Given the description of an element on the screen output the (x, y) to click on. 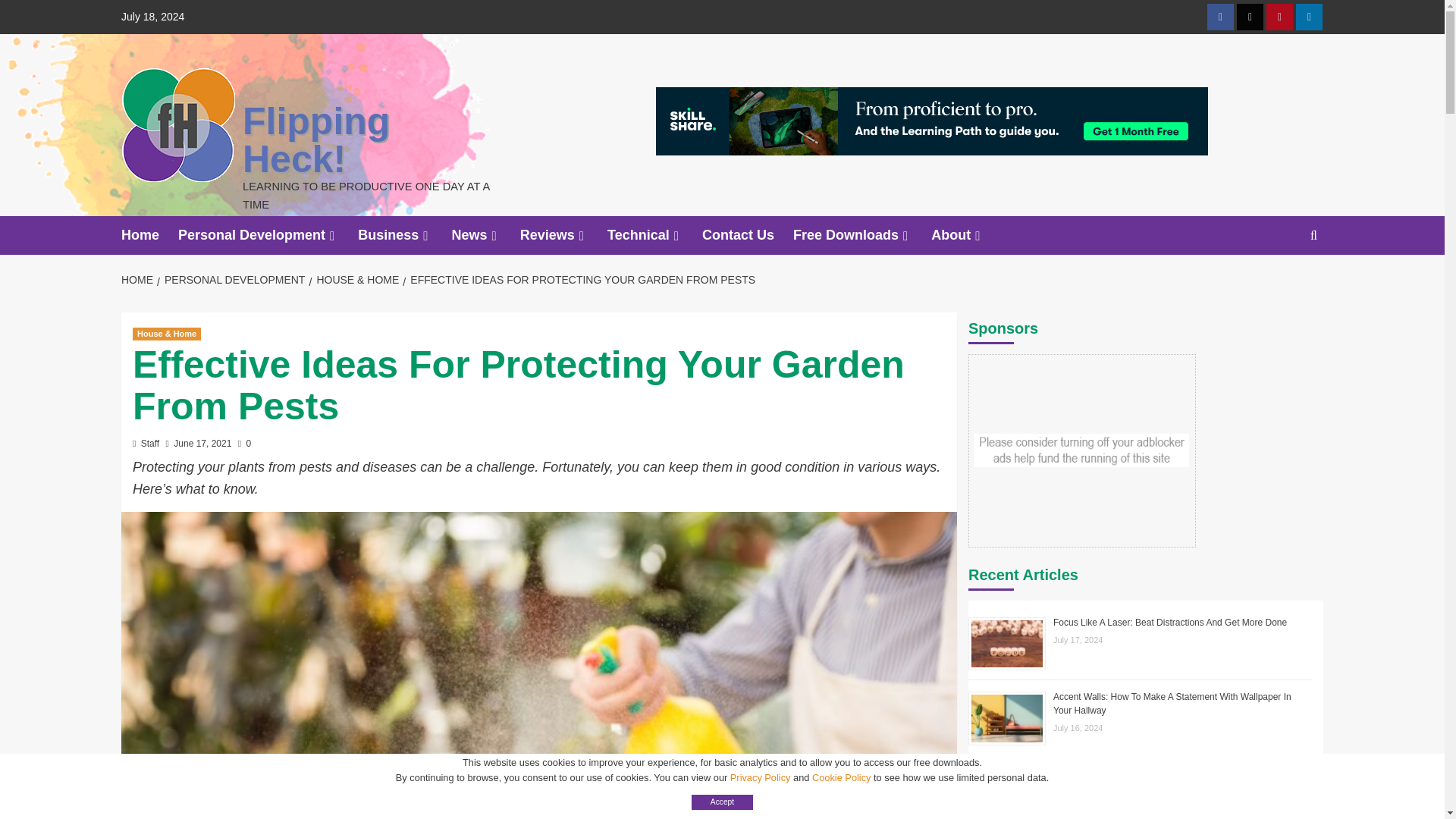
Twitter (1249, 17)
Home (148, 235)
News (485, 235)
Twitter (1249, 17)
Search (1313, 234)
Pinterest (1279, 17)
Facebook (1220, 17)
Personal Development (267, 235)
Pinterest (1279, 17)
LinkedIn (1308, 17)
LinkedIn (1308, 17)
Facebook Page (1220, 17)
Business (404, 235)
Flipping Heck! (316, 139)
